Given the description of an element on the screen output the (x, y) to click on. 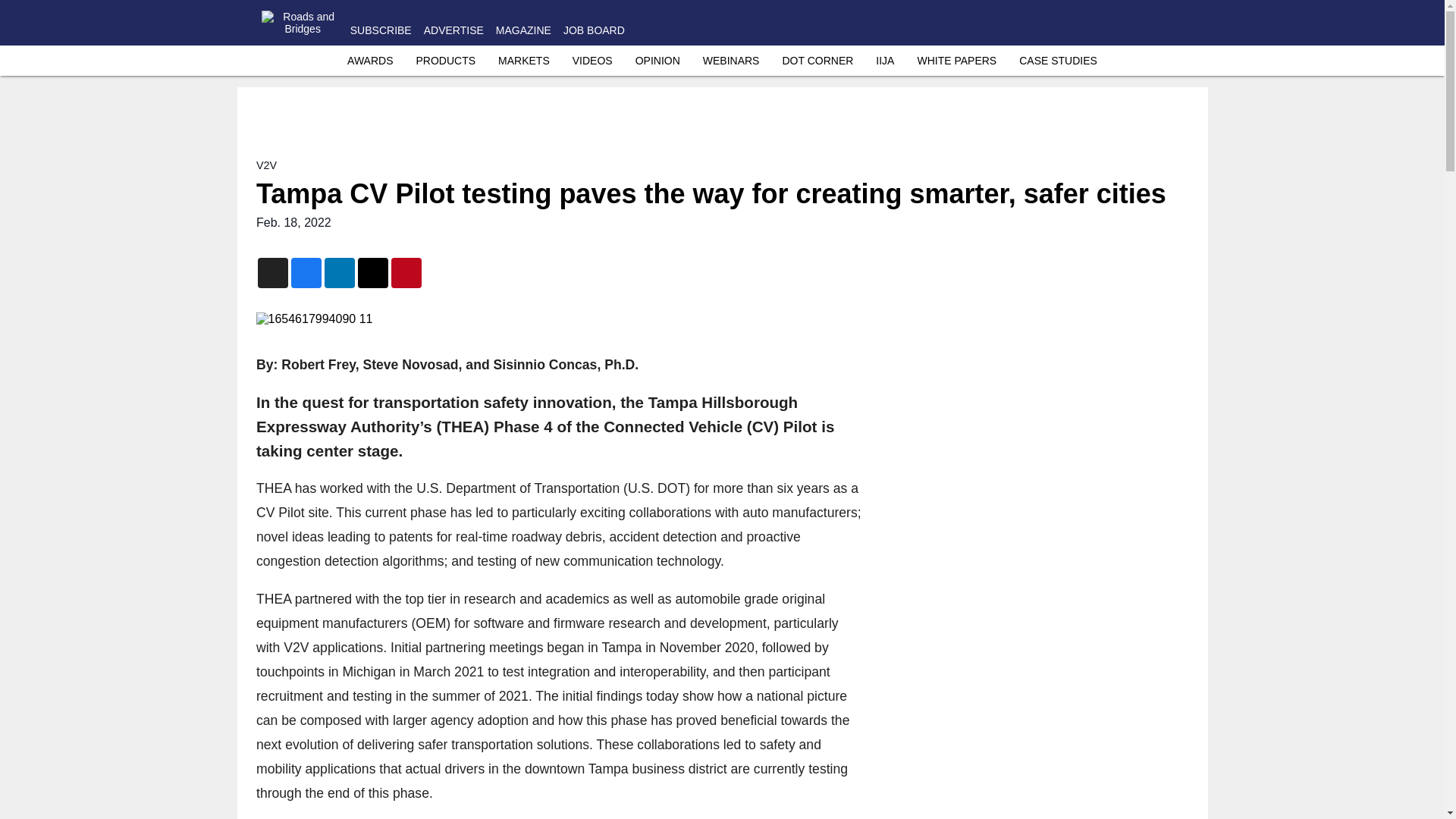
V2V (266, 164)
OPINION (656, 60)
JOB BOARD (593, 30)
CASE STUDIES (1058, 60)
WEBINARS (731, 60)
ADVERTISE (453, 30)
WHITE PAPERS (956, 60)
MAGAZINE (523, 30)
AWARDS (370, 60)
IIJA (884, 60)
